Given the description of an element on the screen output the (x, y) to click on. 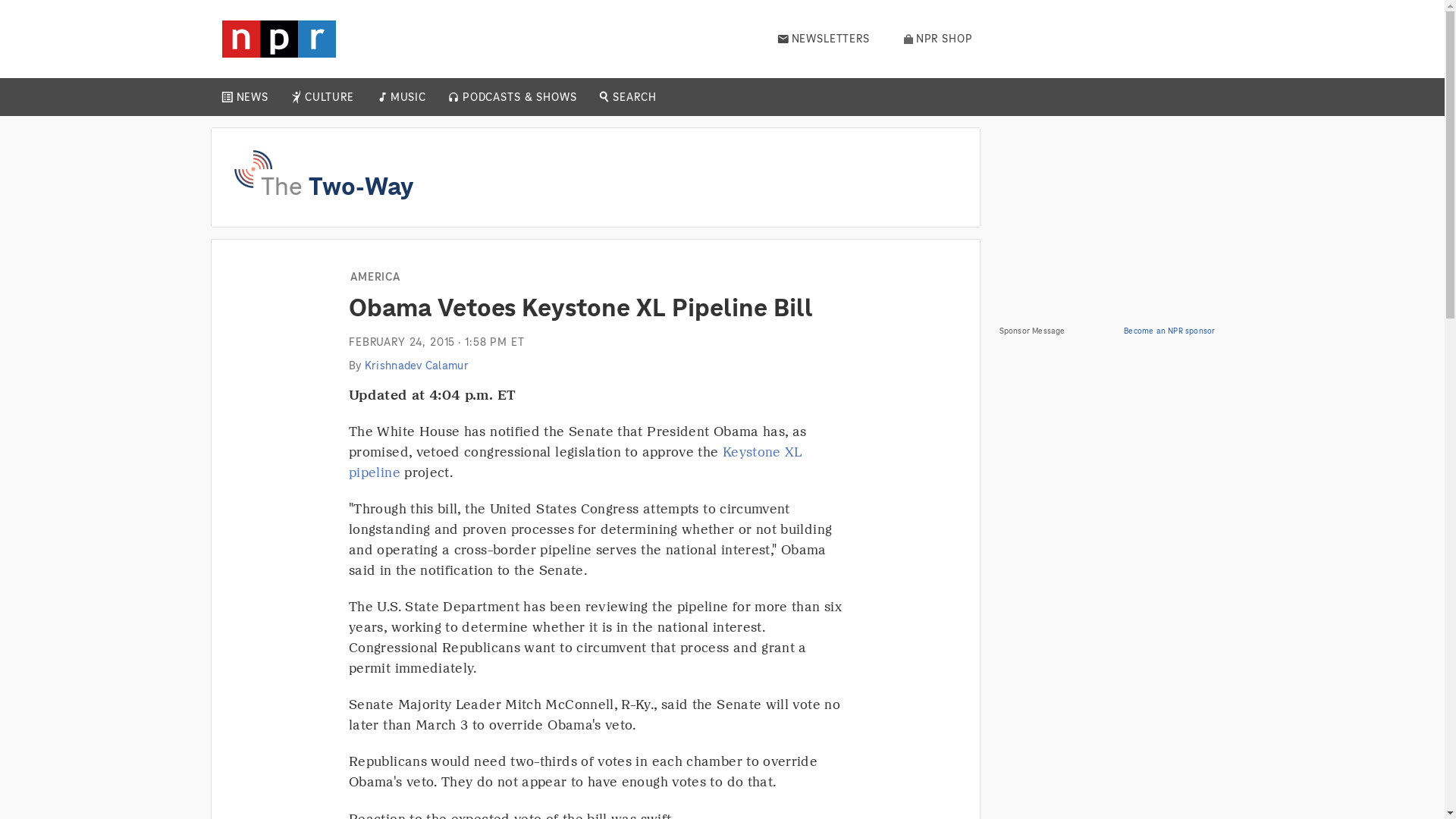
NPR SHOP (938, 38)
MUSIC (407, 96)
NEWSLETTERS (823, 38)
NEWS (251, 96)
CULTURE (328, 96)
